Given the description of an element on the screen output the (x, y) to click on. 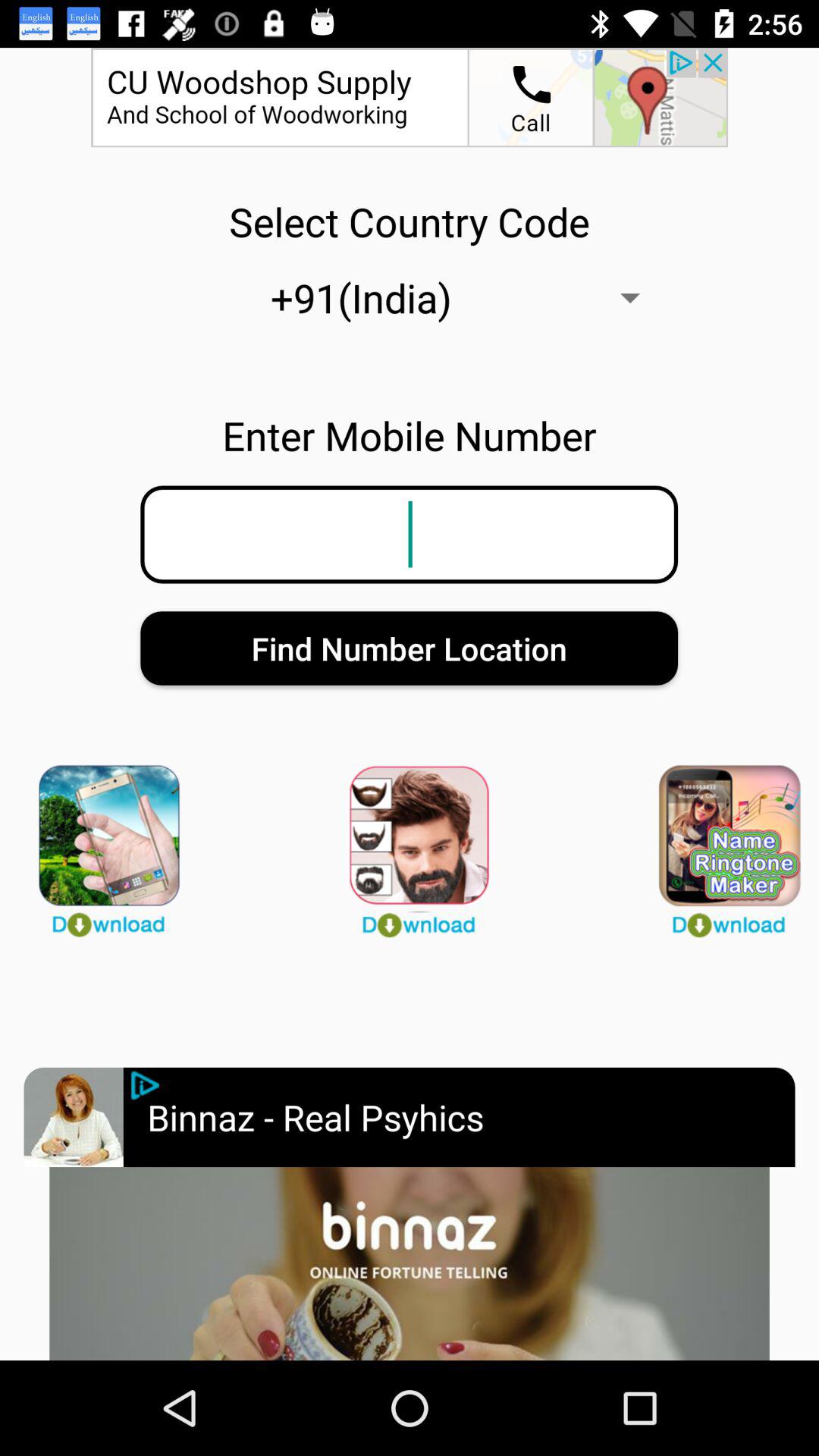
advertisement (73, 1117)
